Given the description of an element on the screen output the (x, y) to click on. 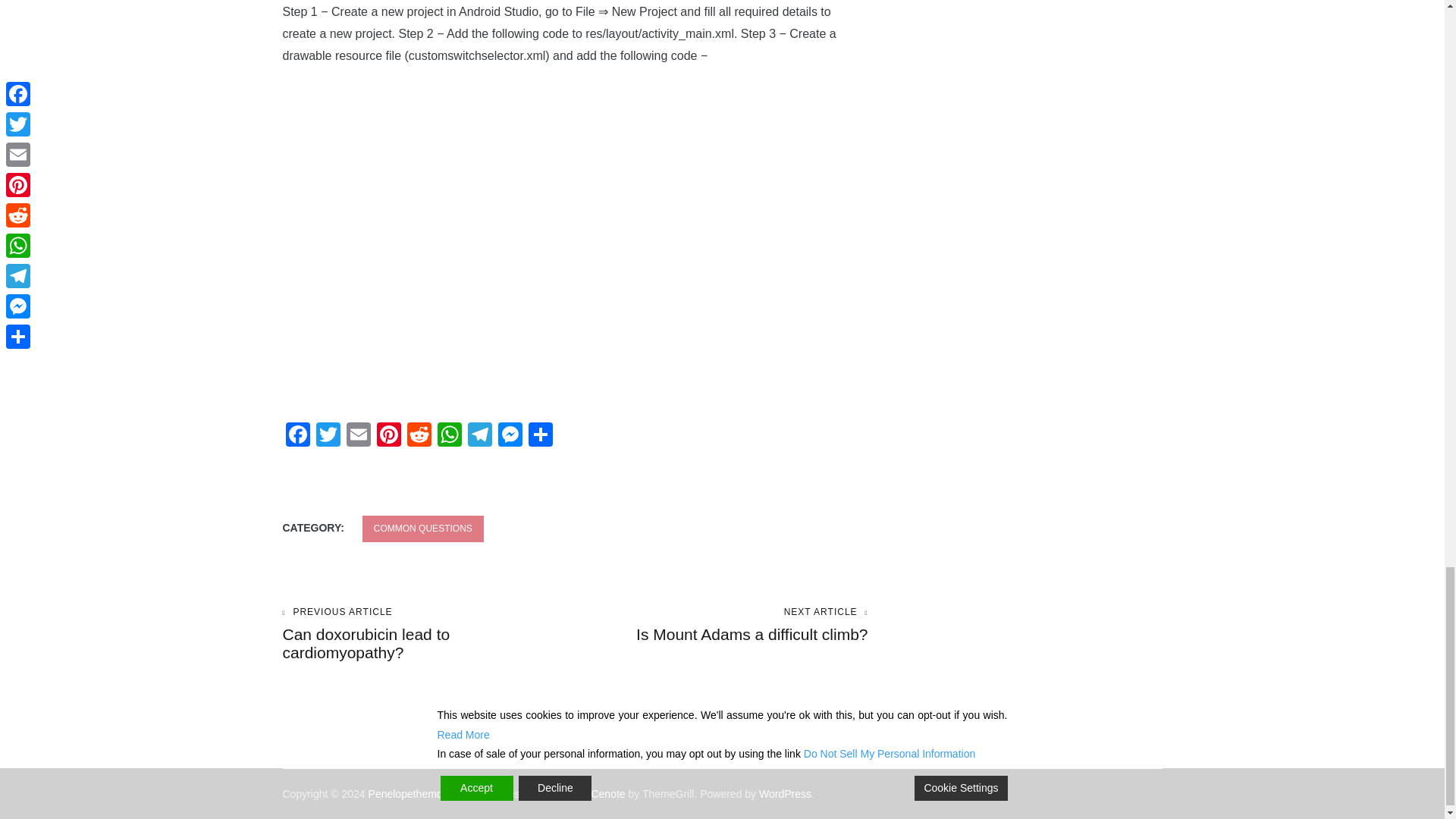
COMMON QUESTIONS (422, 528)
Email (357, 436)
Pinterest (387, 436)
Messenger (721, 624)
Email (509, 436)
Twitter (357, 436)
Pinterest (327, 436)
Messenger (387, 436)
WhatsApp (509, 436)
